Given the description of an element on the screen output the (x, y) to click on. 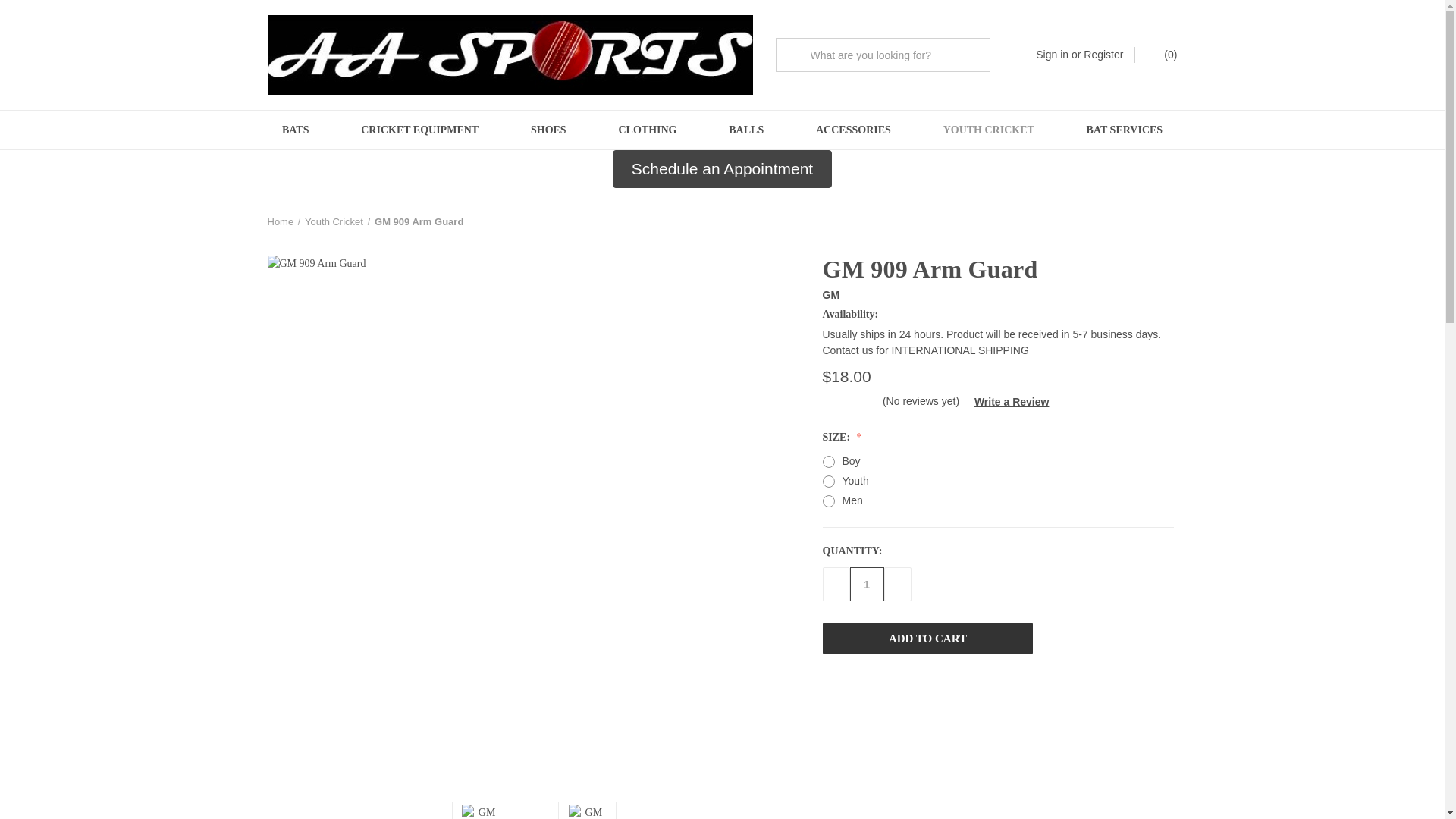
GM 909 Arm Guard (480, 811)
Add to Cart (927, 638)
Register (1102, 54)
CRICKET EQUIPMENT (419, 129)
1 (865, 584)
GM 909 Arm Guard (588, 811)
AA SPORTS (509, 55)
